Given the description of an element on the screen output the (x, y) to click on. 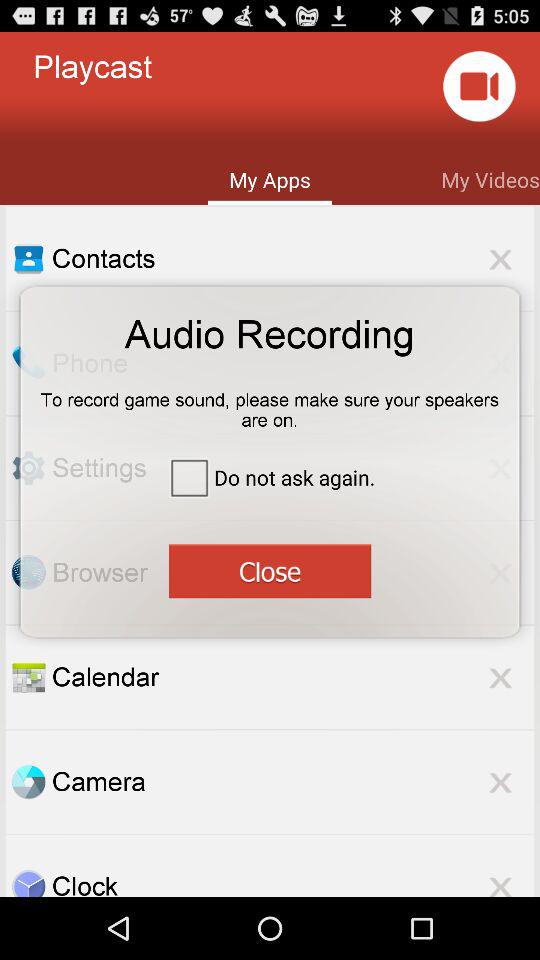
jump to the to record game icon (269, 403)
